Given the description of an element on the screen output the (x, y) to click on. 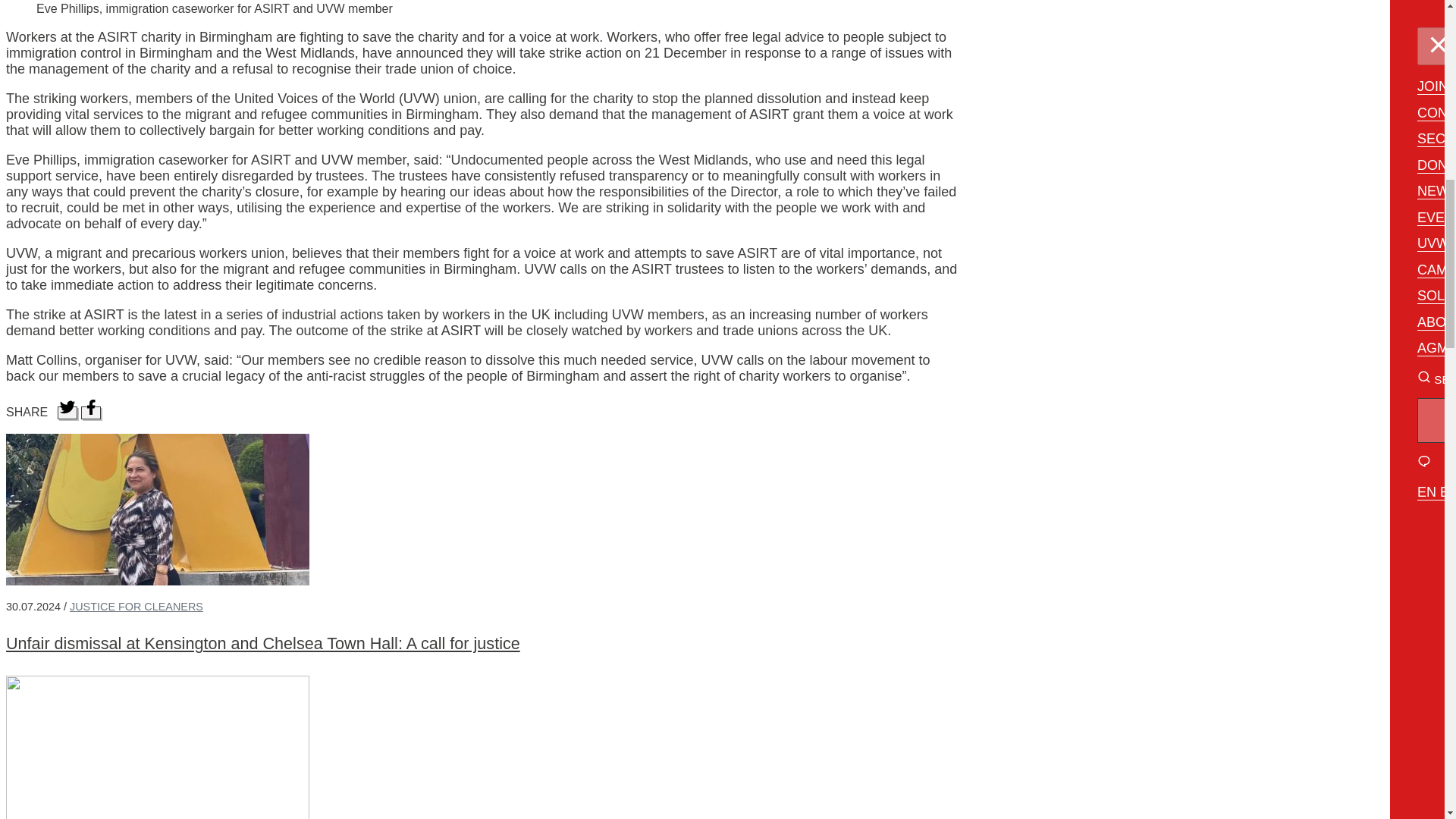
JUSTICE FOR CLEANERS (136, 606)
